Given the description of an element on the screen output the (x, y) to click on. 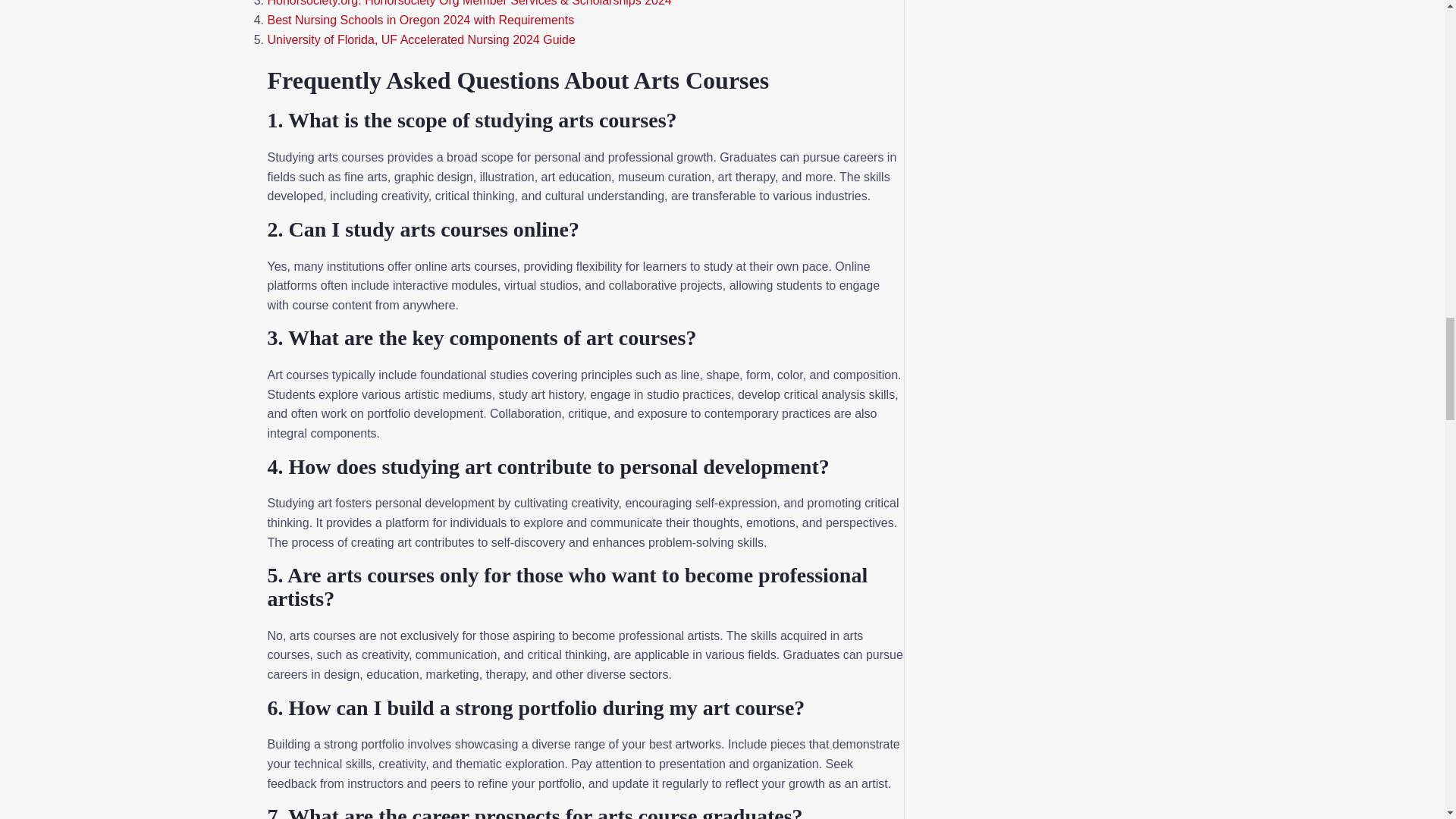
Best Nursing Schools in Oregon 2024 with Requirements (419, 19)
University of Florida, UF Accelerated Nursing 2024 Guide (420, 39)
